Given the description of an element on the screen output the (x, y) to click on. 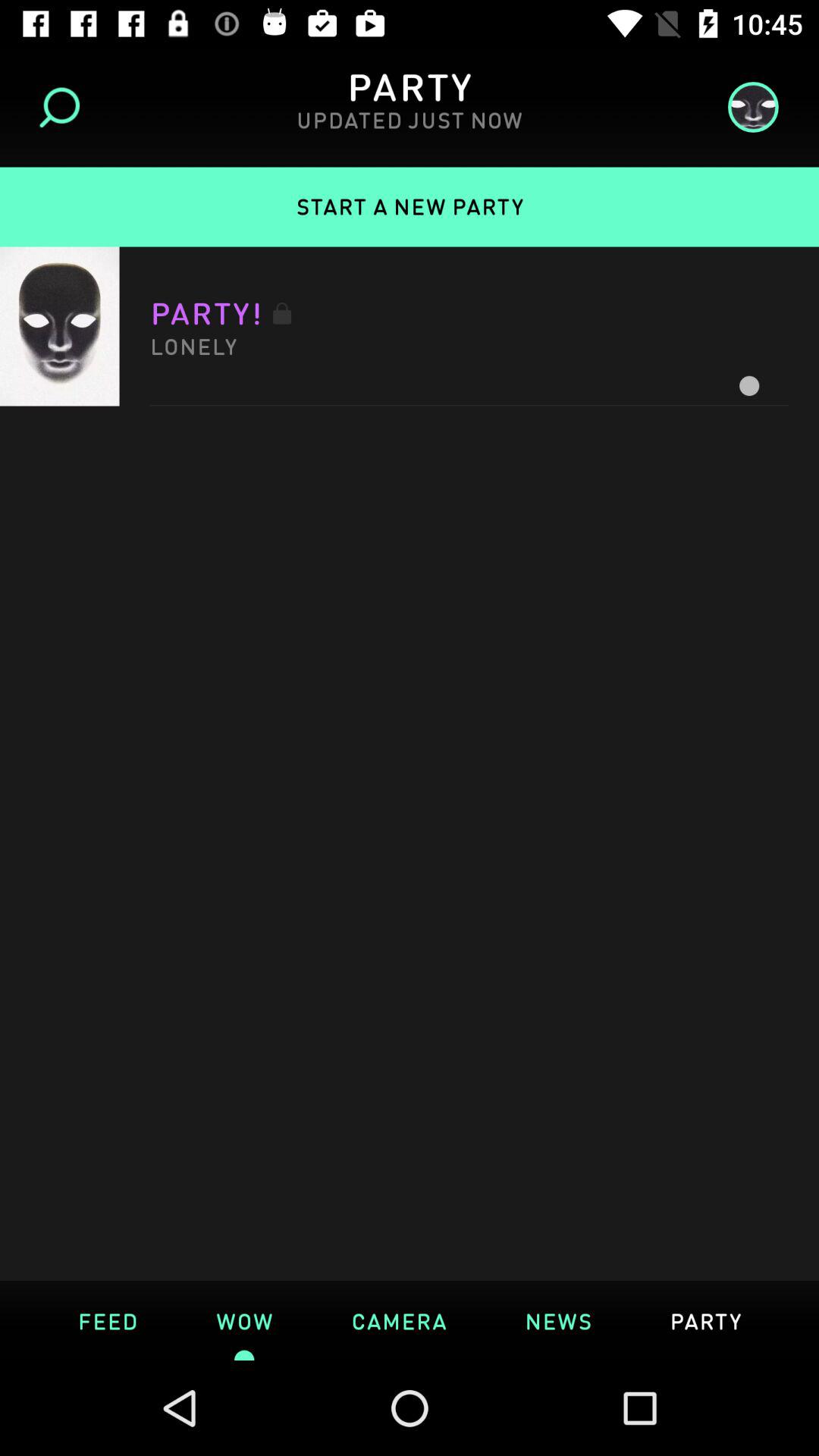
search (64, 107)
